Given the description of an element on the screen output the (x, y) to click on. 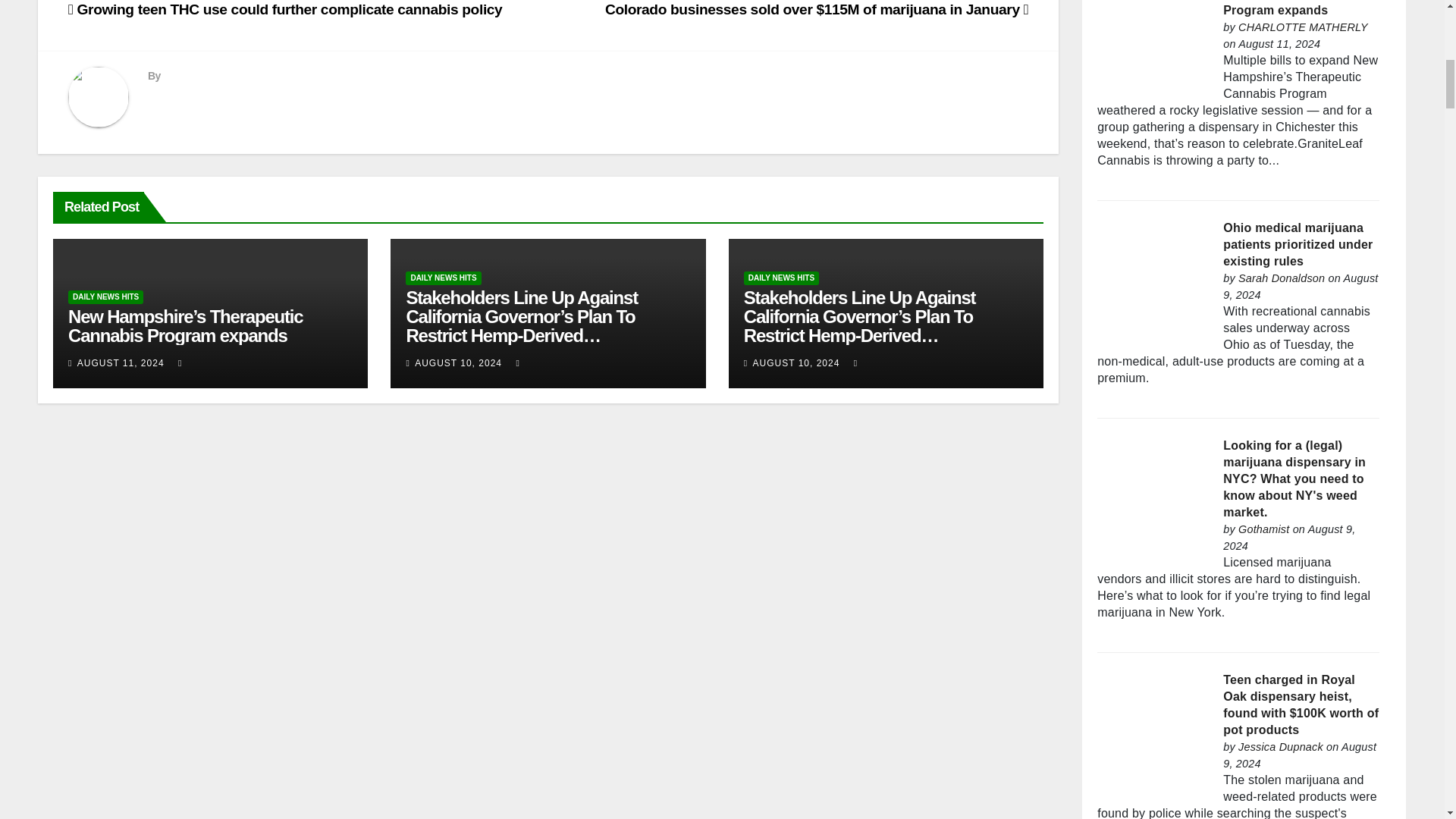
DAILY NEWS HITS (105, 296)
www.statenews.org (1281, 277)
DAILY NEWS HITS (443, 278)
AUGUST 10, 2024 (458, 362)
AUGUST 11, 2024 (120, 362)
www.vnews.com (1303, 27)
